Given the description of an element on the screen output the (x, y) to click on. 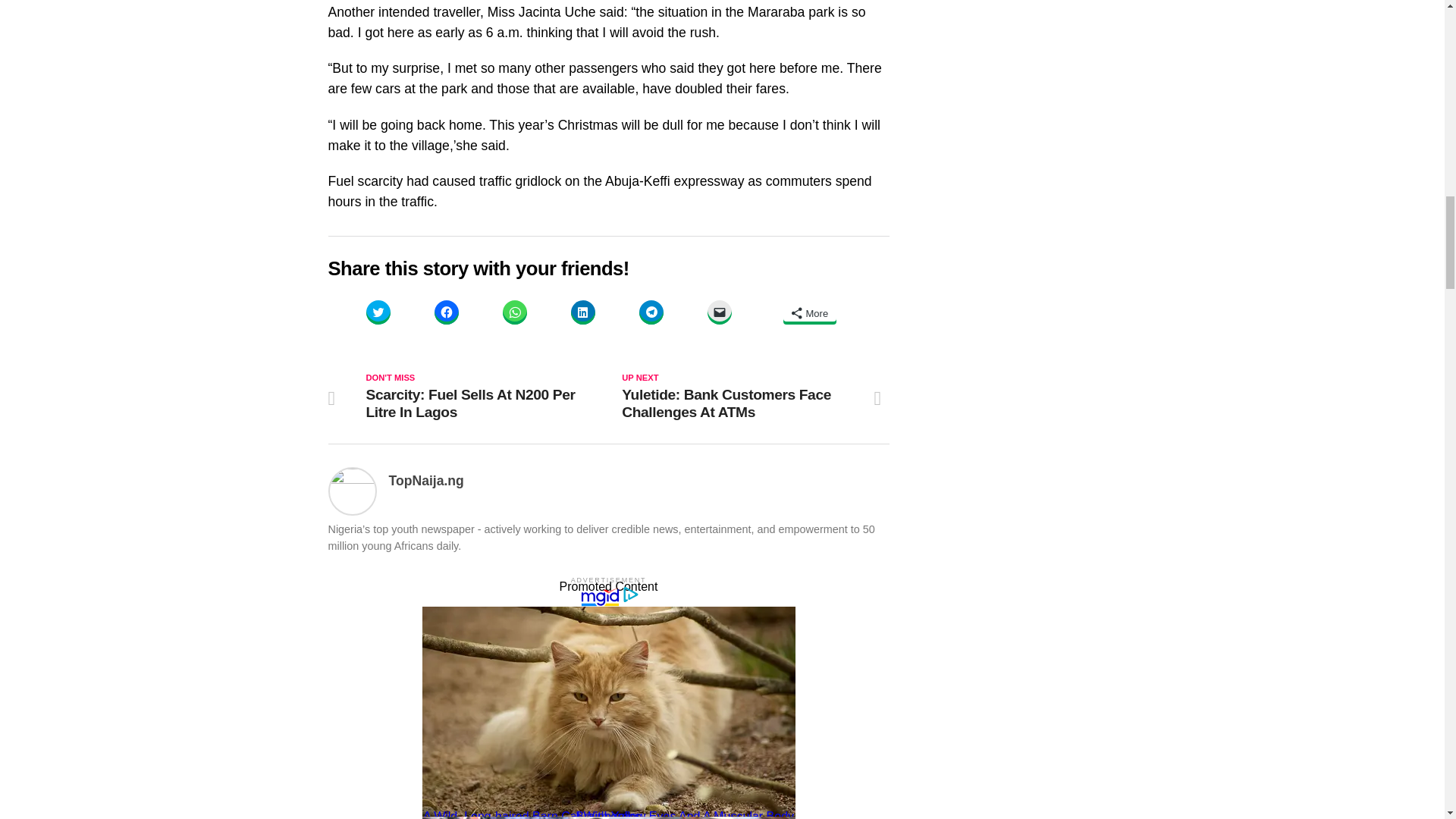
Click to share on LinkedIn (582, 312)
Click to share on WhatsApp (513, 312)
Click to share on Facebook (445, 312)
Click to email a link to a friend (718, 312)
Click to share on Telegram (650, 312)
Click to share on Twitter (377, 312)
